Given the description of an element on the screen output the (x, y) to click on. 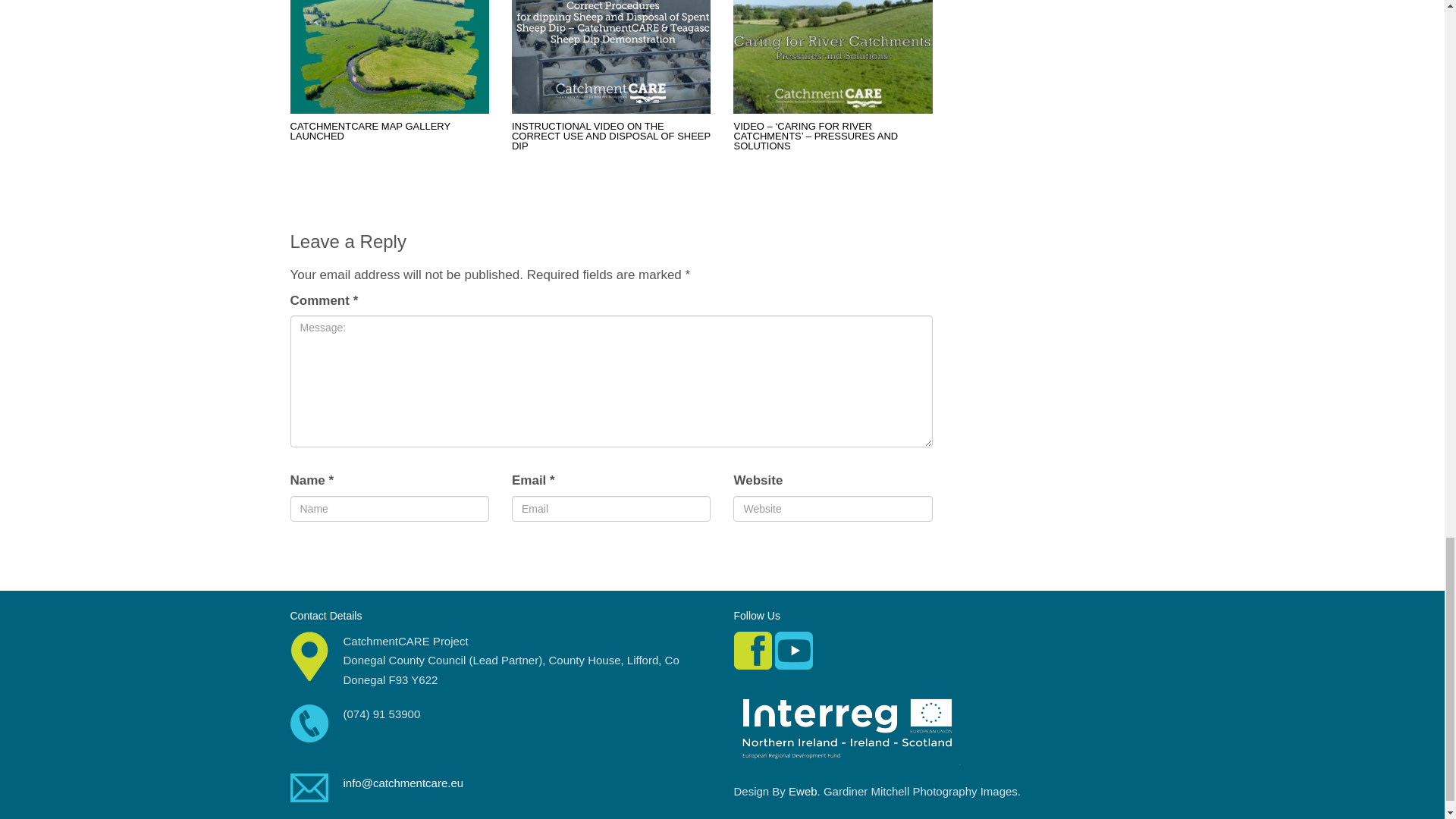
Eweb (802, 790)
CATCHMENTCARE MAP GALLERY LAUNCHED (369, 130)
Post Comment (339, 559)
Post Comment (339, 559)
